Given the description of an element on the screen output the (x, y) to click on. 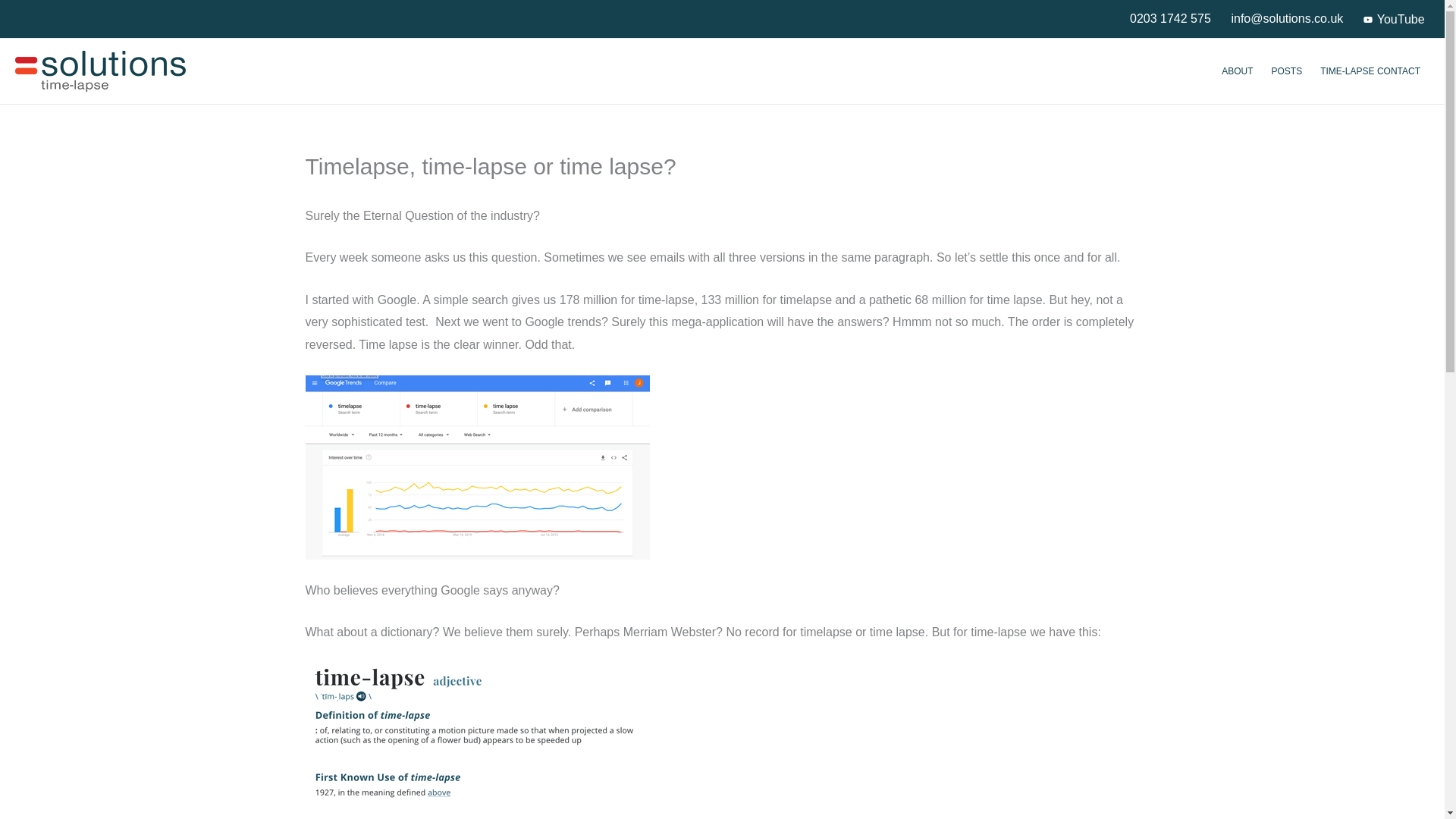
ABOUT (1237, 71)
POSTS (1286, 71)
TIME-LAPSE CONTACT (1370, 71)
YouTube (1393, 19)
